Given the description of an element on the screen output the (x, y) to click on. 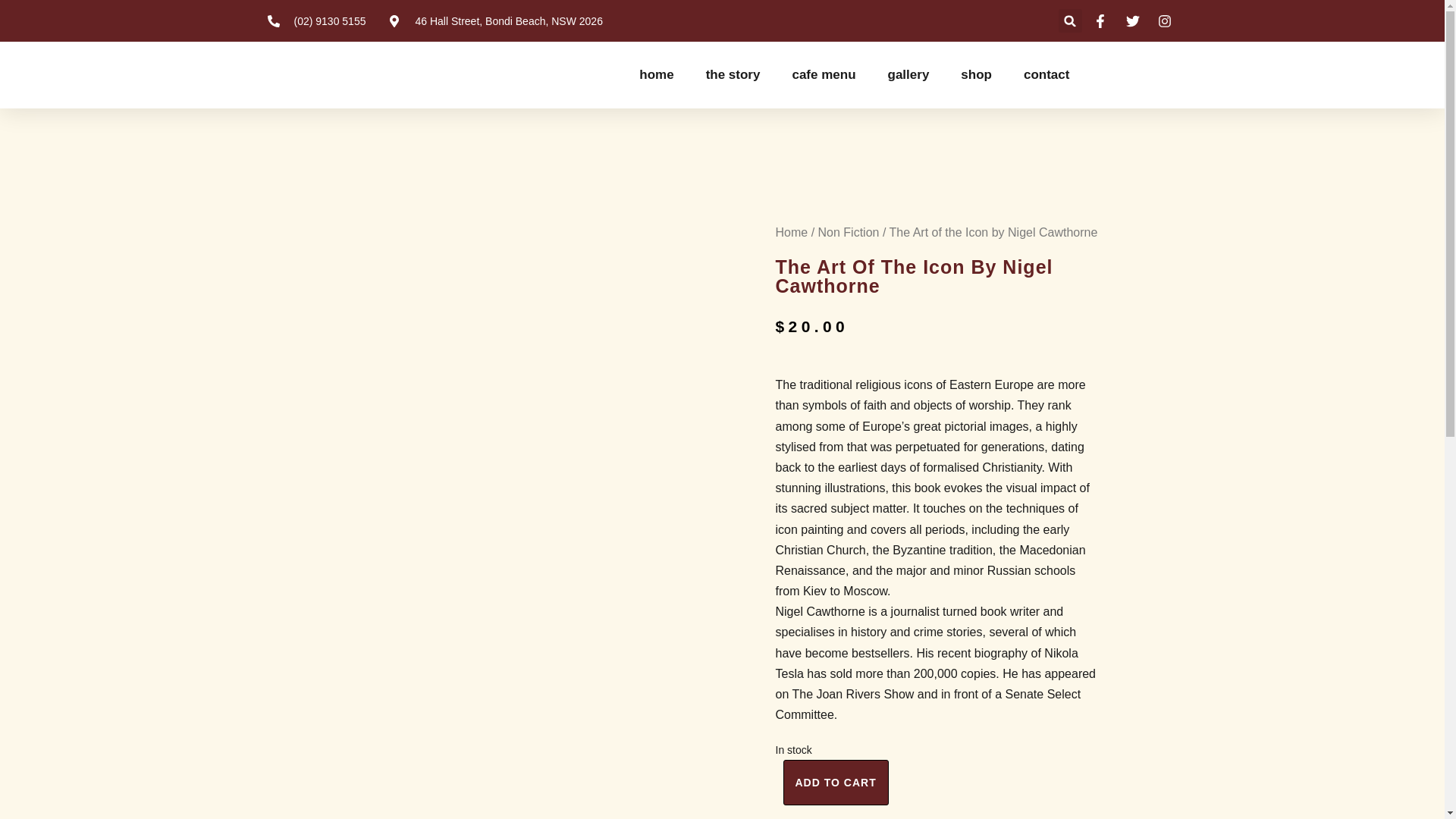
Non Fiction (848, 232)
gallery (909, 74)
contact (1045, 74)
shop (975, 74)
ADD TO CART (835, 782)
home (655, 74)
Home (791, 232)
cafe menu (824, 74)
the story (733, 74)
